Given the description of an element on the screen output the (x, y) to click on. 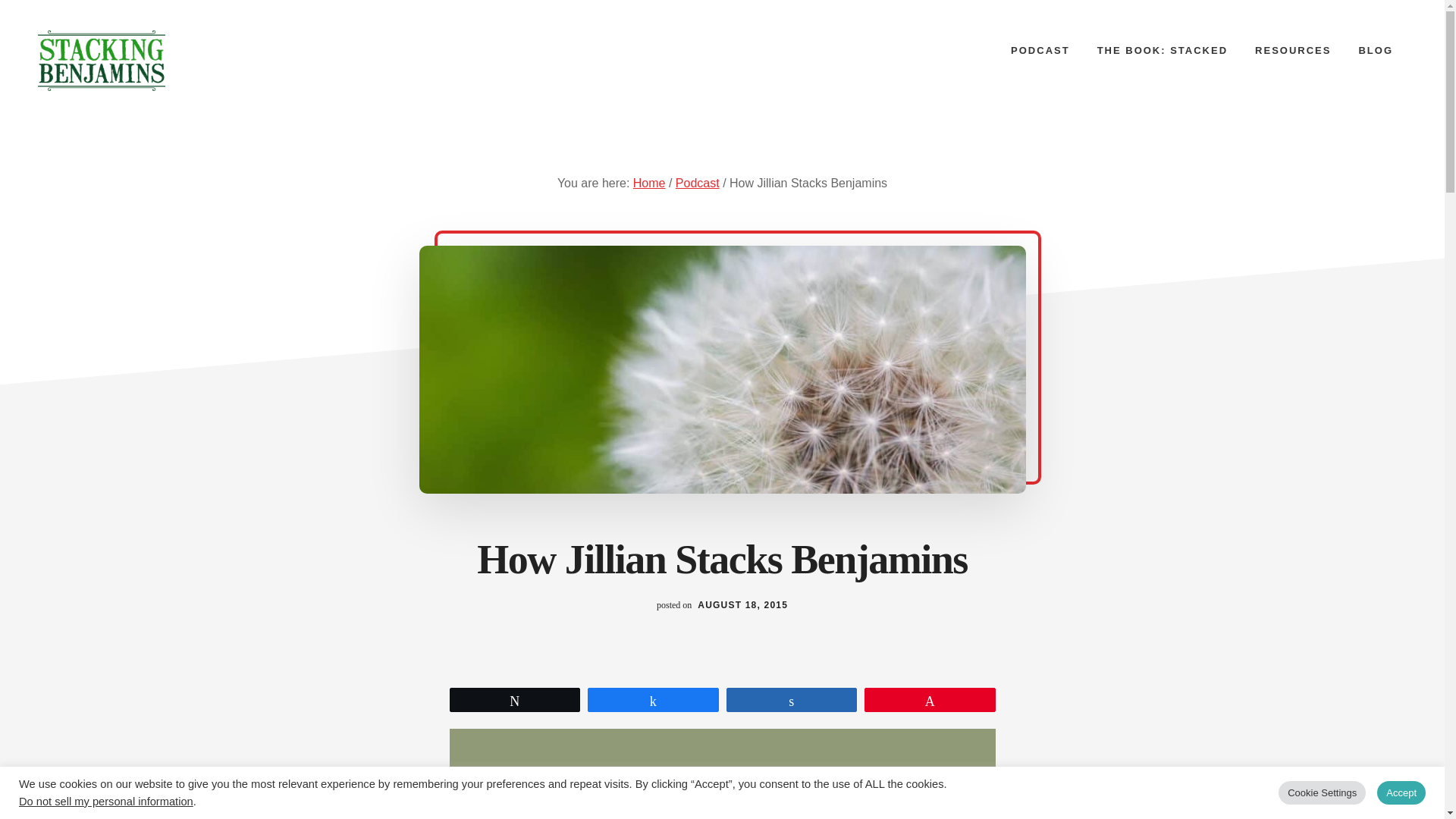
Podcast (697, 182)
RESOURCES (1292, 50)
Cookie Settings (1321, 792)
Home (649, 182)
THE STACKING BENJAMINS SHOW (150, 60)
Do not sell my personal information (105, 801)
PODCAST (1040, 50)
BLOG (1374, 50)
Accept (1401, 792)
THE BOOK: STACKED (1162, 50)
